Given the description of an element on the screen output the (x, y) to click on. 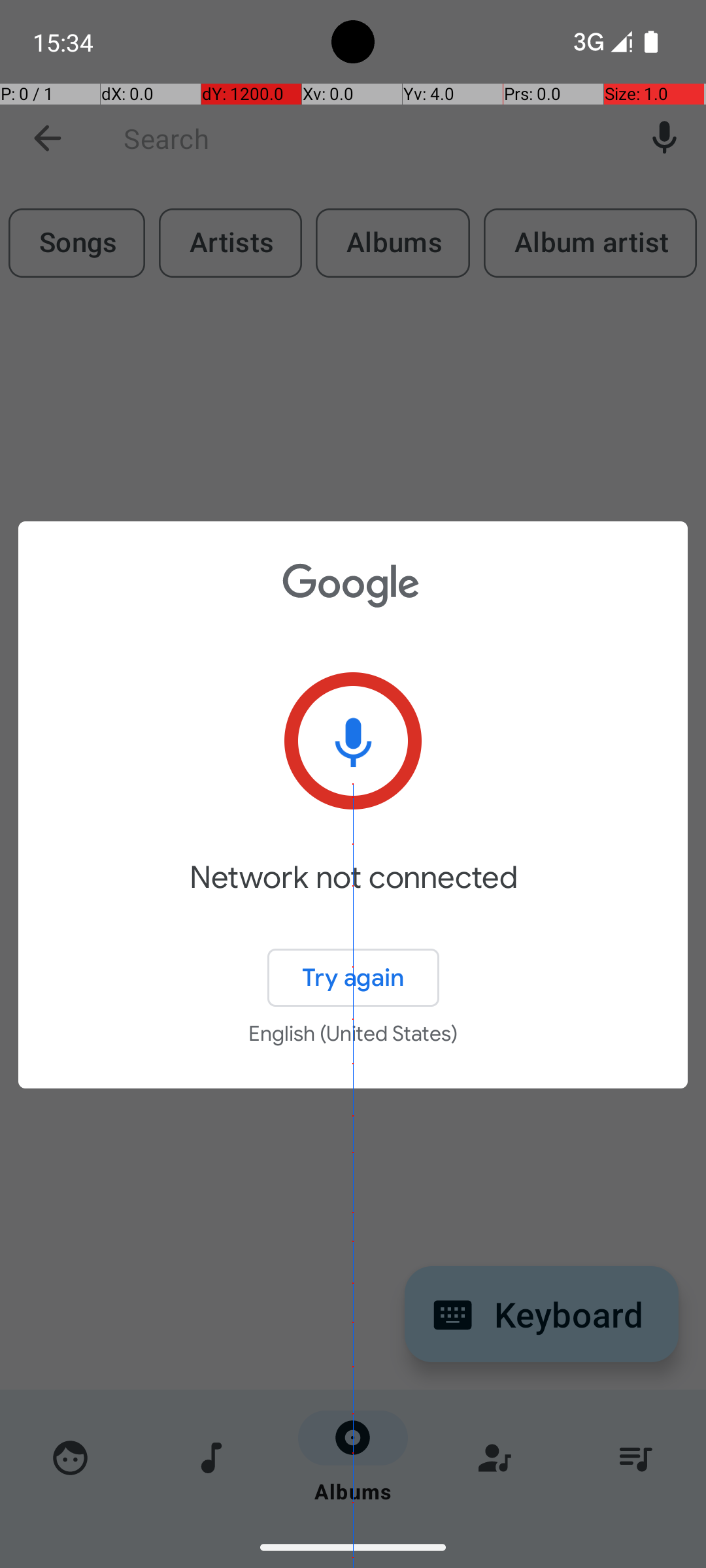
Network not connected Element type: android.widget.TextView (352, 895)
Try again Element type: android.widget.Button (353, 977)
